Given the description of an element on the screen output the (x, y) to click on. 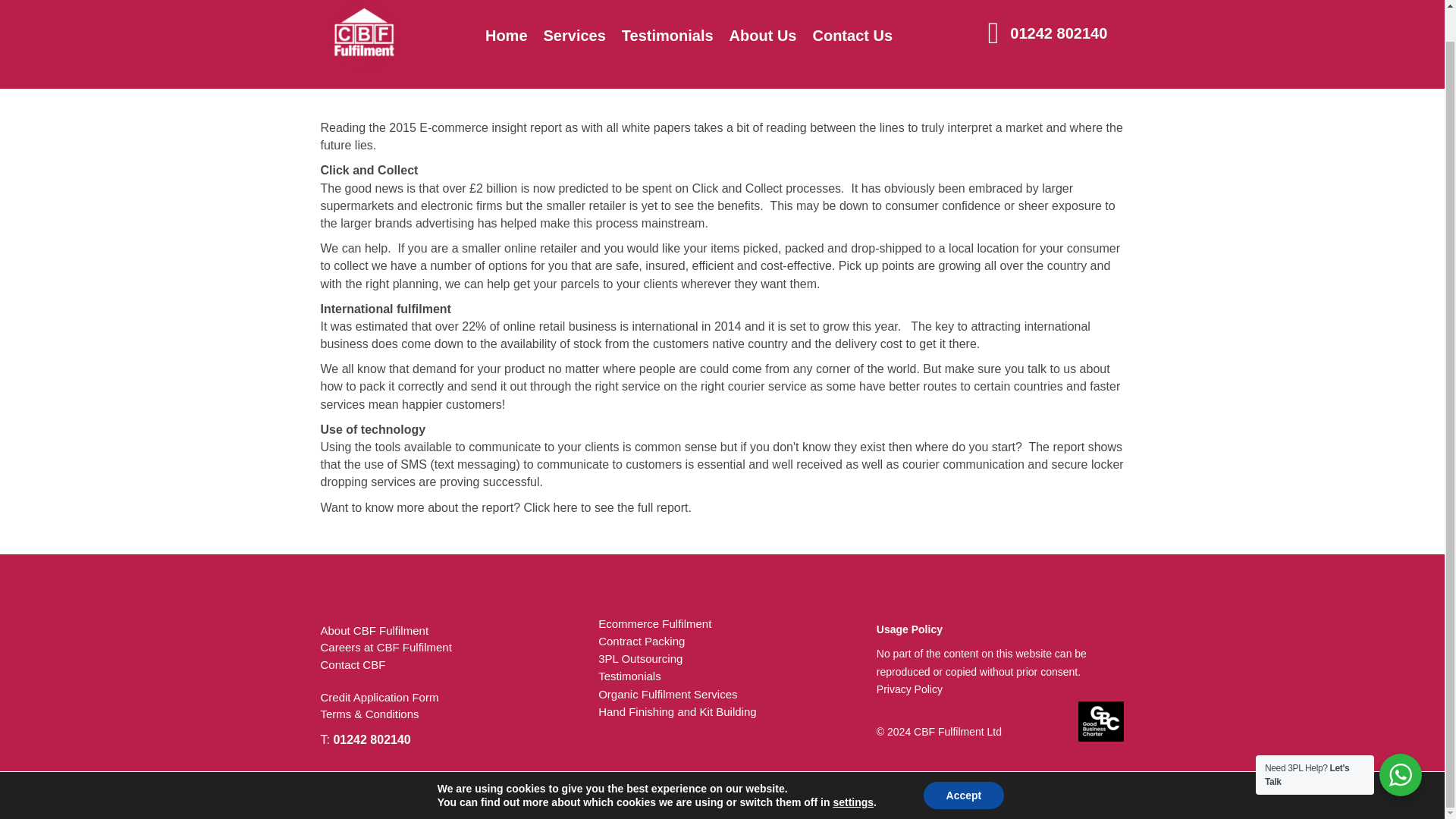
here (565, 507)
About CBF Fulfilment (374, 630)
cropped-CBF-Fulfilment-Logo.png (363, 36)
About Us (763, 27)
Contact CBF (352, 664)
Testimonials (667, 26)
01242 802140 (1057, 32)
Careers at CBF Fulfilment (385, 646)
Credit Application Form (379, 697)
Services (573, 13)
